Given the description of an element on the screen output the (x, y) to click on. 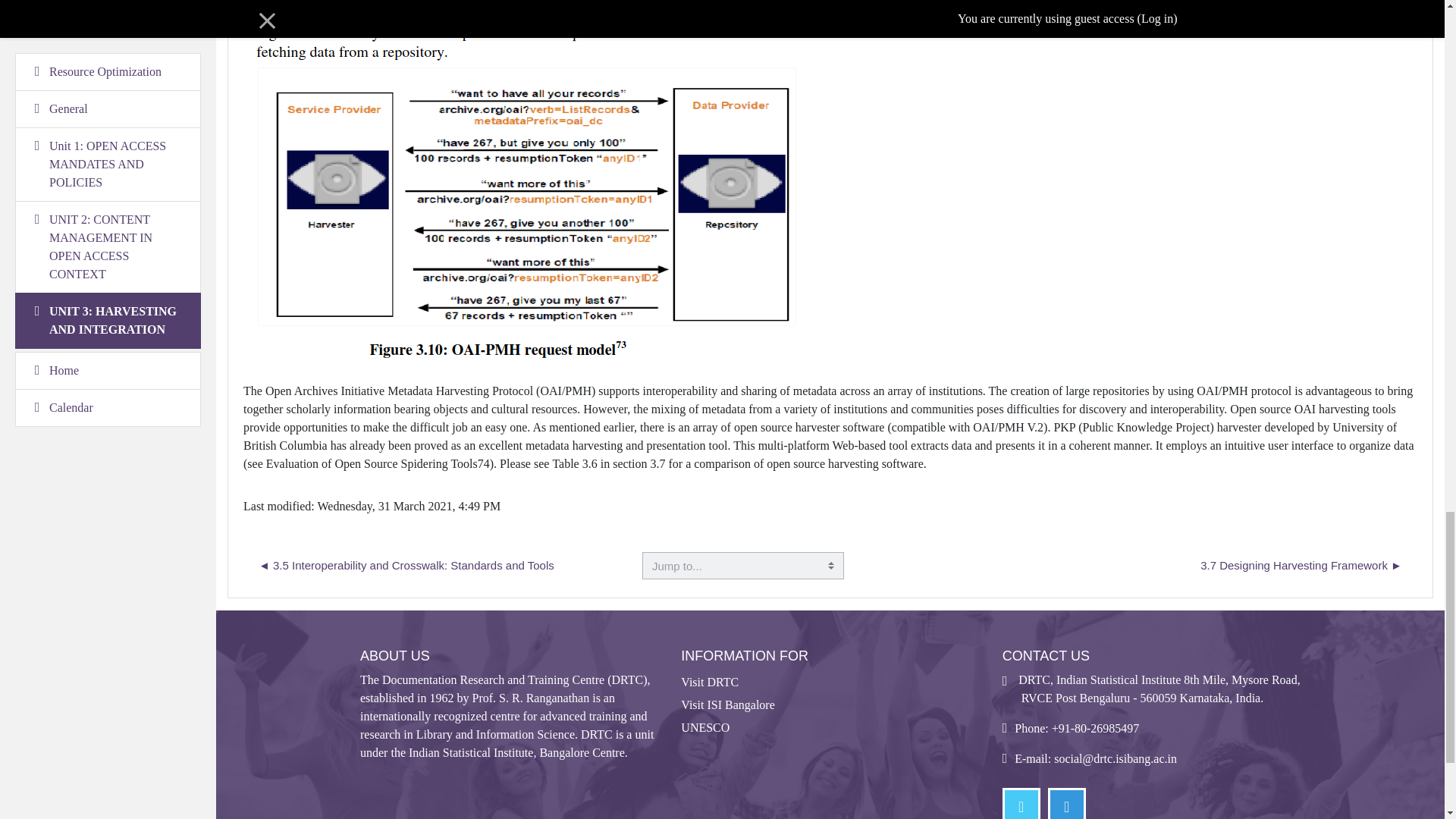
3.5 Interoperability and Crosswalk: Standards and Tools (406, 565)
